Given the description of an element on the screen output the (x, y) to click on. 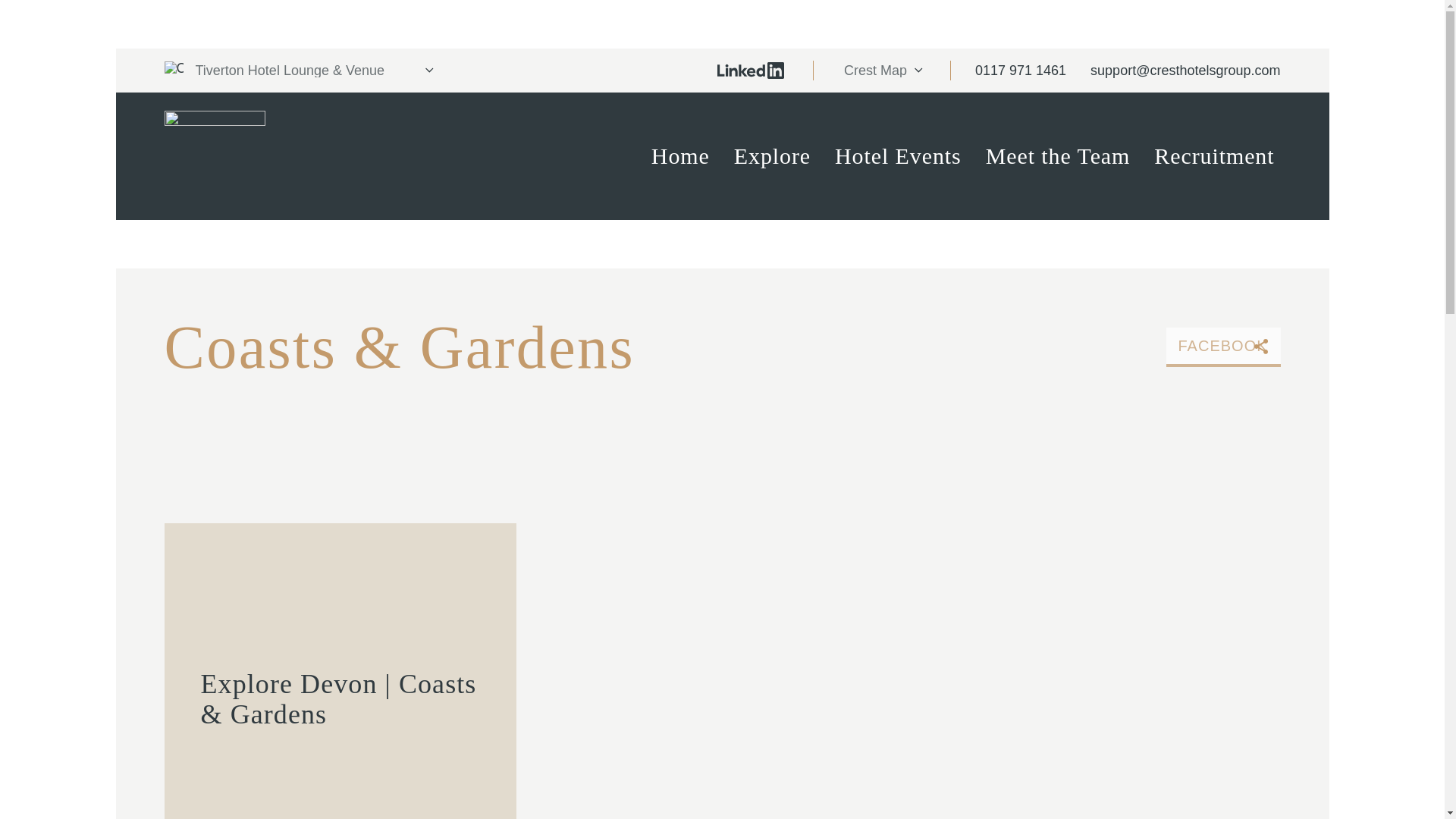
Meet the Team (1058, 156)
Recruitment (1213, 156)
0117 971 1461 (1020, 70)
Hotel Events (898, 156)
Home (680, 156)
Explore (772, 156)
